Given the description of an element on the screen output the (x, y) to click on. 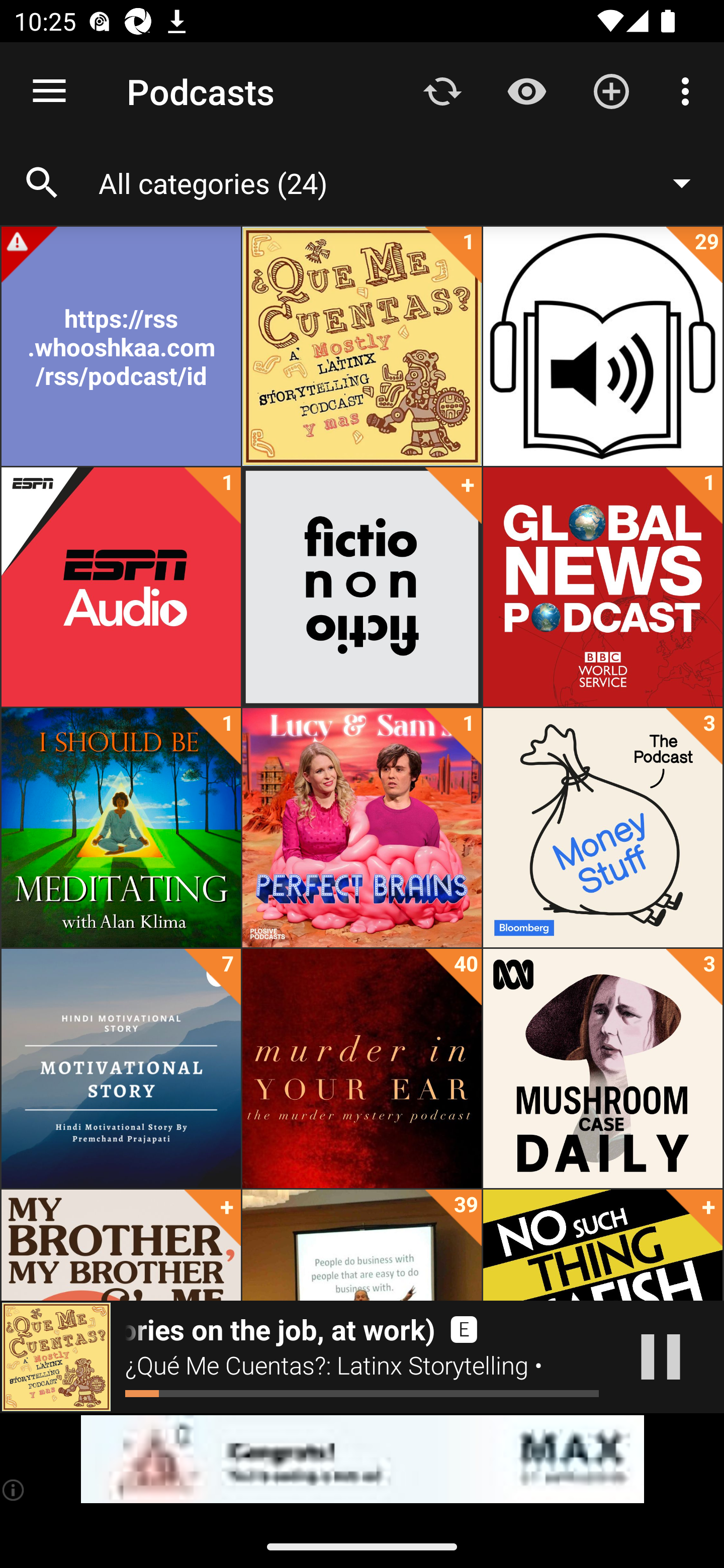
Open navigation sidebar (49, 91)
Update (442, 90)
Show / Hide played content (526, 90)
Add new Podcast (611, 90)
More options (688, 90)
Search (42, 183)
All categories (24) (404, 182)
https://rss.whooshkaa.com/rss/podcast/id/5884 (121, 346)
¿Qué Me Cuentas?: Latinx Storytelling 1 (361, 346)
Audiobooks 29 (602, 346)
ESPN Audio 1 (121, 587)
fiction/non/fiction + (361, 587)
Global News Podcast 1 (602, 587)
Lucy & Sam's Perfect Brains 1 (361, 827)
Money Stuff: The Podcast 3 (602, 827)
Murder In Your Ear-The Murder Mystery Podcast 40 (361, 1068)
Mushroom Case Daily 3 (602, 1068)
Play / Pause (660, 1356)
app-monetization (362, 1459)
(i) (14, 1489)
